Given the description of an element on the screen output the (x, y) to click on. 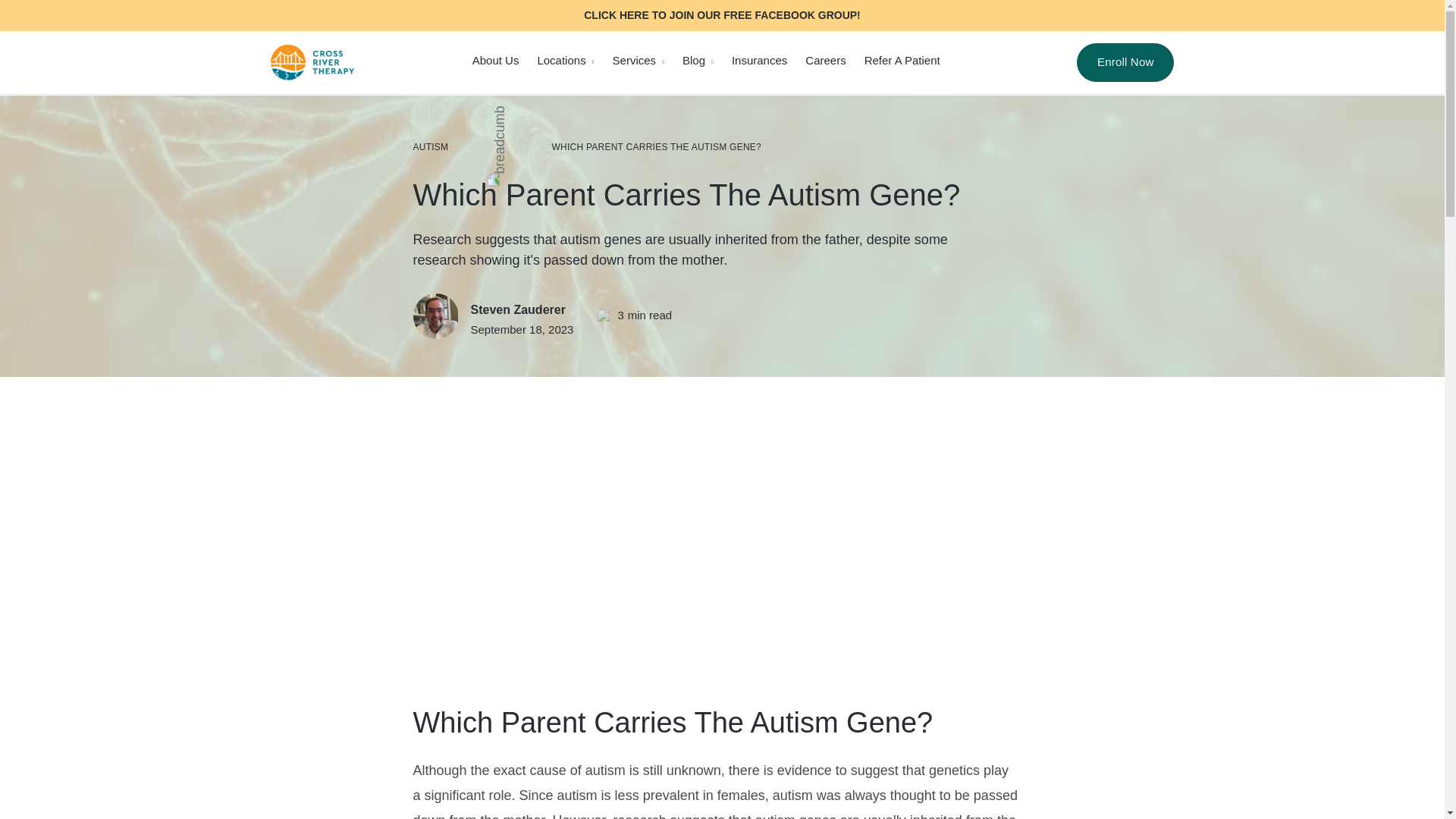
Services (634, 60)
Blog (693, 60)
About Us (495, 60)
AUTISM (430, 147)
Careers (825, 60)
WHICH PARENT CARRIES THE AUTISM GENE? (656, 147)
Insurances (759, 60)
Locations (561, 60)
Enroll Now (1125, 62)
